Given the description of an element on the screen output the (x, y) to click on. 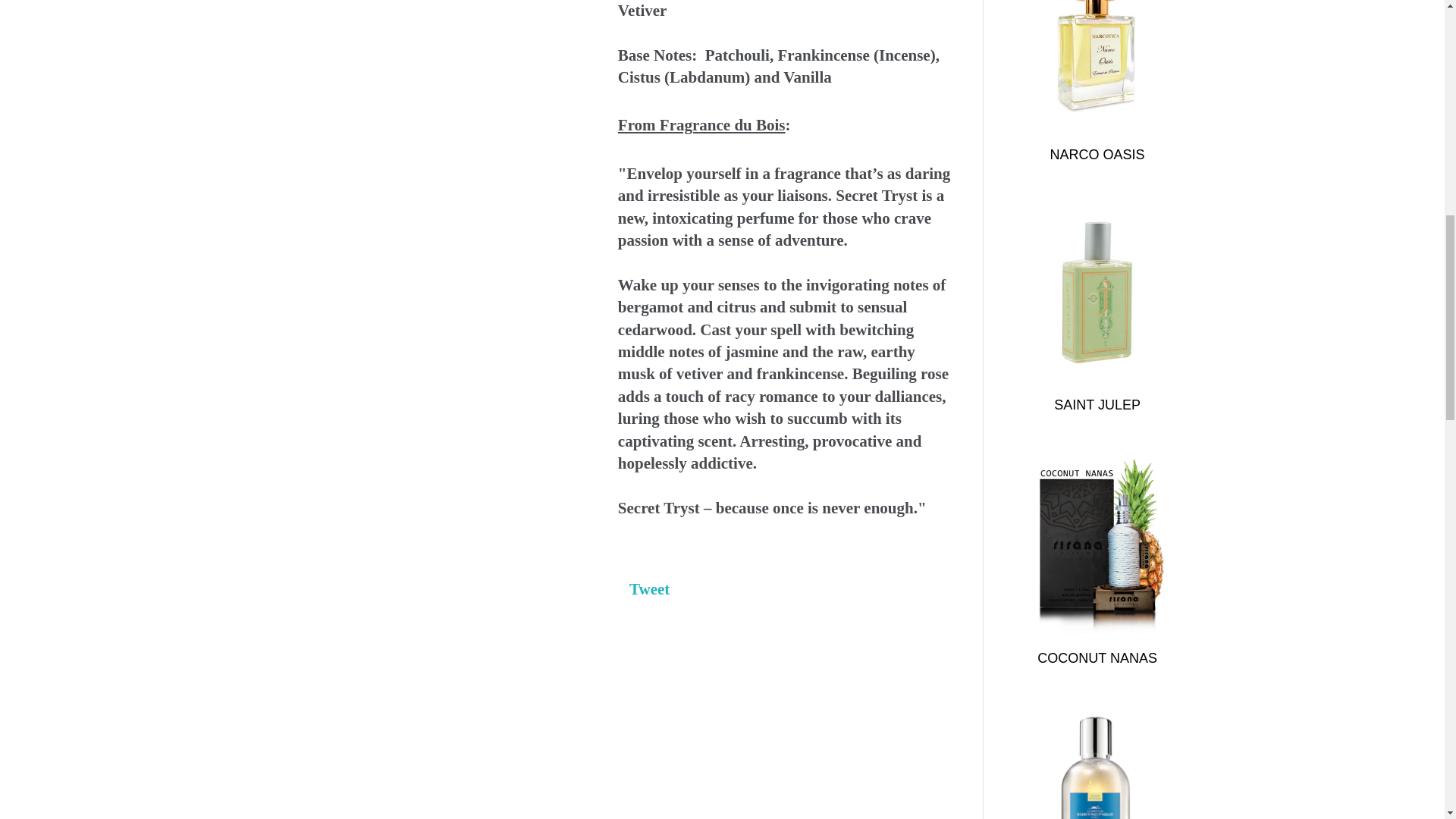
Saint Julep (1097, 293)
Narco Oasis (1096, 154)
Coconut Nanas (1096, 657)
Coconut Nanas (1097, 544)
Narco Oasis (1097, 65)
Vanille Banane (1097, 764)
Saint Julep (1097, 404)
